Given the description of an element on the screen output the (x, y) to click on. 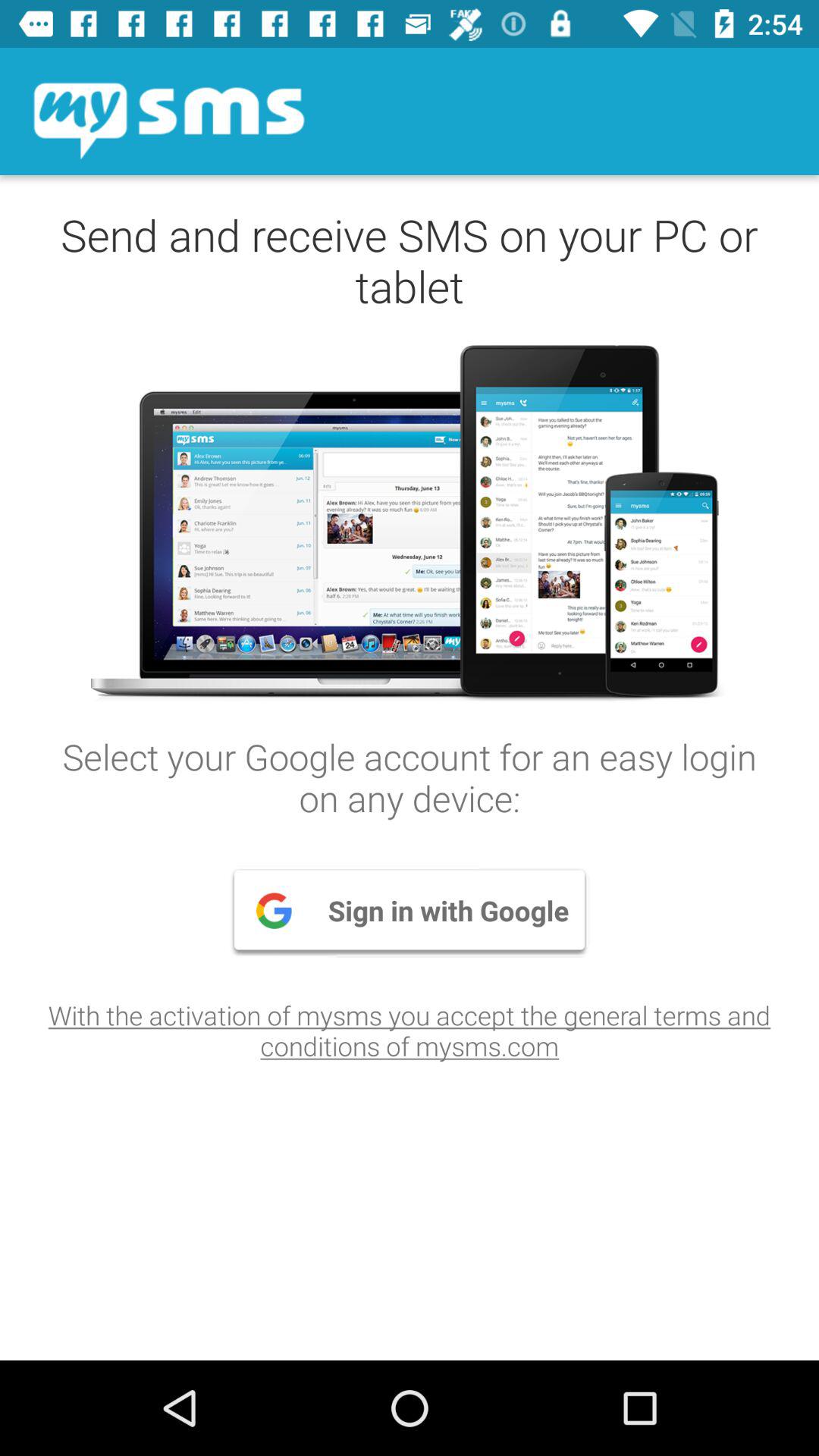
scroll to the with the activation (409, 1030)
